Given the description of an element on the screen output the (x, y) to click on. 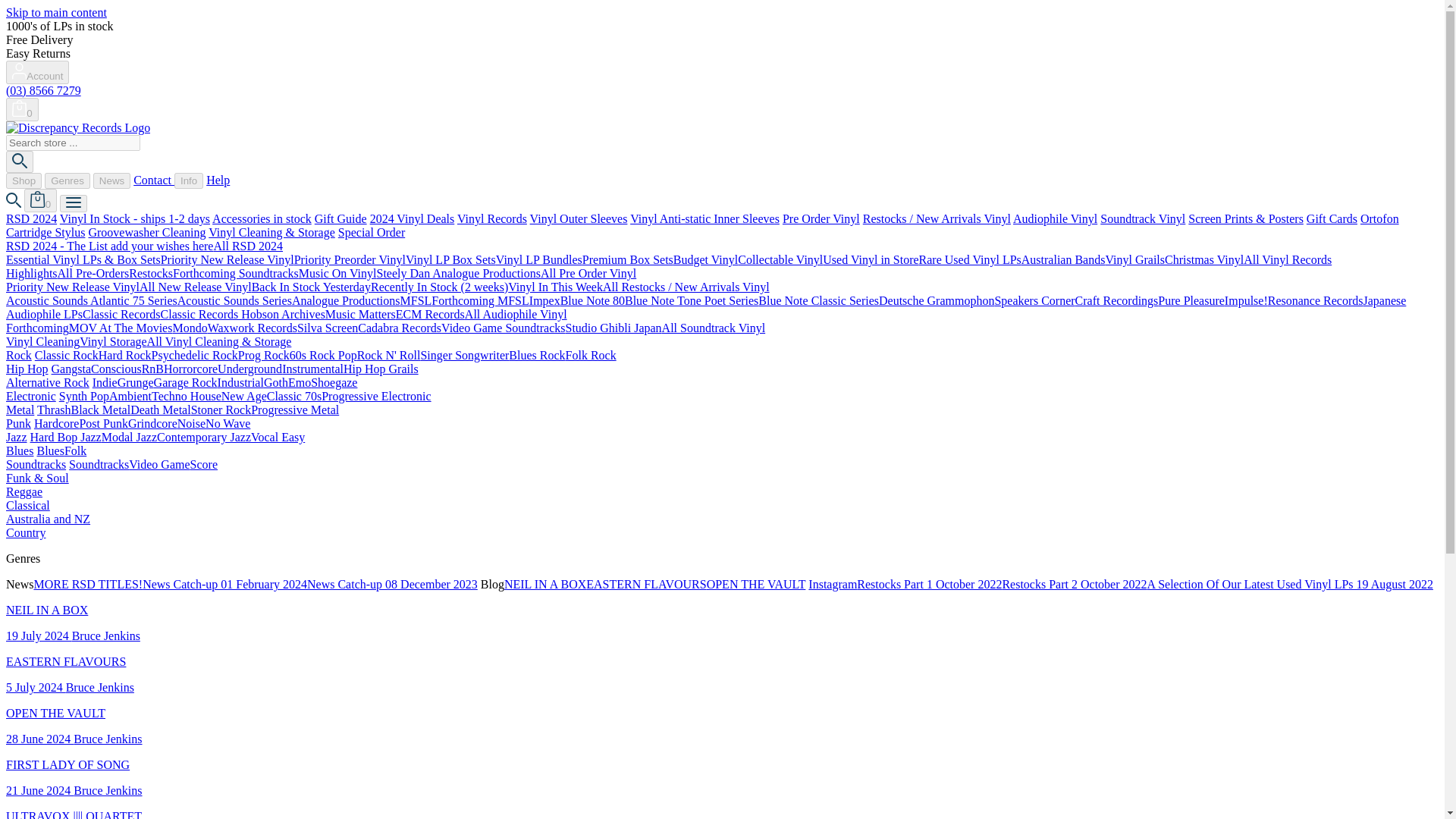
Priority New Release Vinyl (227, 259)
Priority Preorder Vinyl (350, 259)
Search (19, 161)
Shopping Cart (40, 200)
Vinyl LP Bundles (539, 259)
News (112, 180)
Gift Guide (340, 218)
Vinyl Anti-static Inner Sleeves (704, 218)
Info (188, 180)
Gift Cards (1331, 218)
Shopping Cart (22, 108)
Special Order (370, 232)
RSD 2024 (30, 218)
Genres (67, 180)
Vinyl LP Box Sets (451, 259)
